Given the description of an element on the screen output the (x, y) to click on. 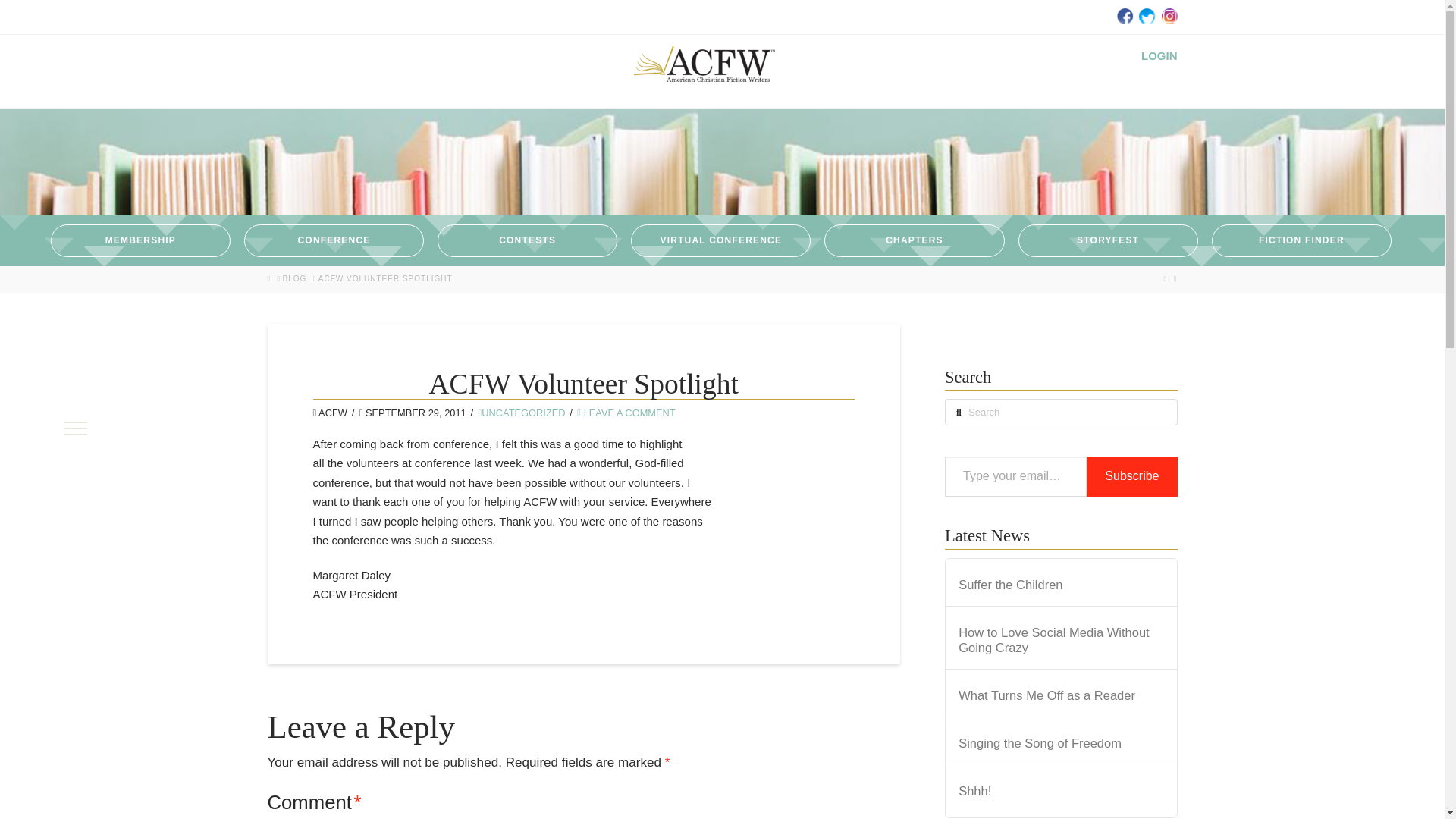
Facebook (1124, 15)
Search (33, 15)
You Are Here (385, 278)
Instagram (1168, 15)
LOGIN (1159, 55)
